Given the description of an element on the screen output the (x, y) to click on. 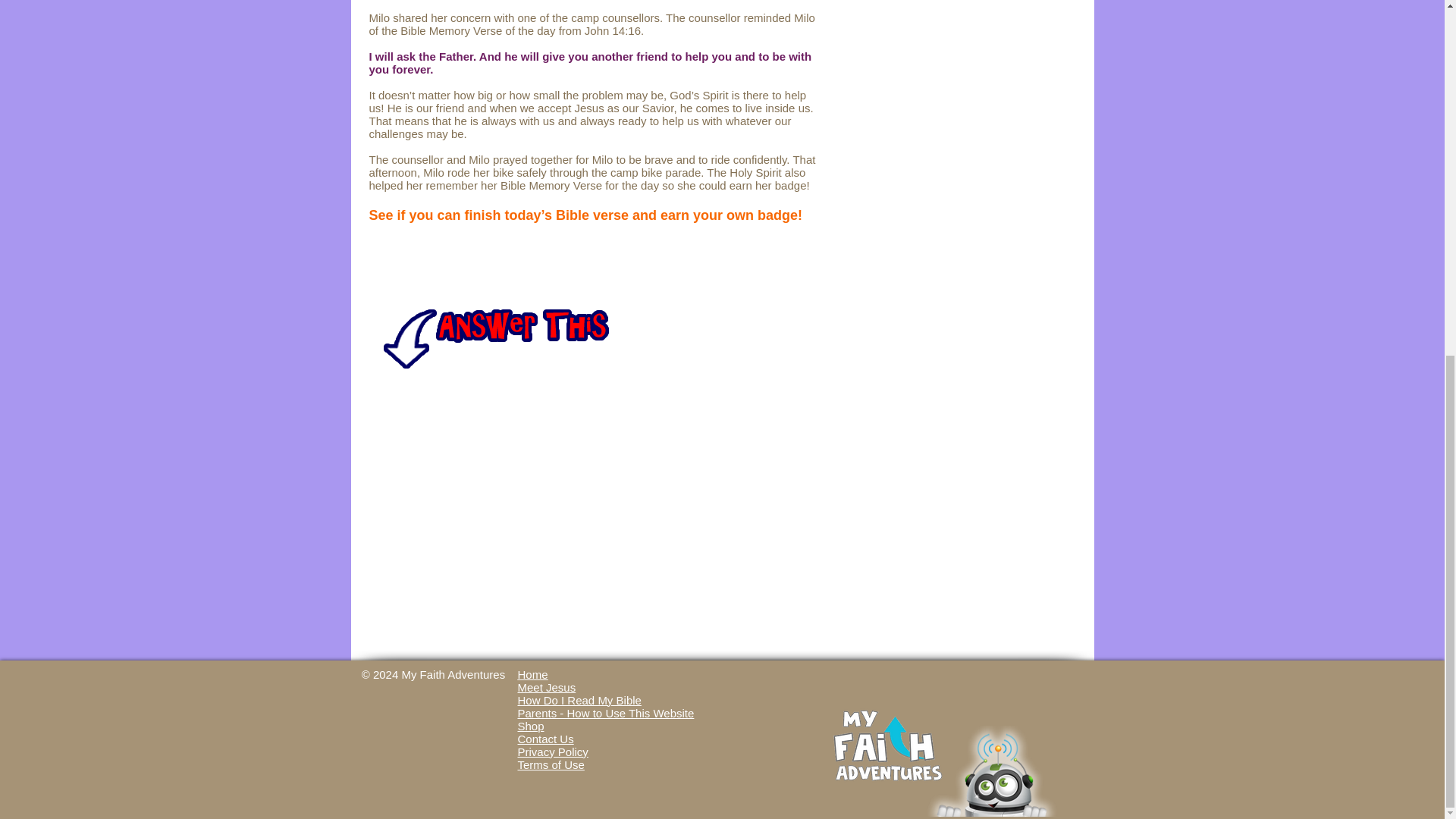
Home (531, 674)
Meet Jesus (545, 686)
Shop (529, 725)
Contact Us (544, 738)
MFA logo outline.png (886, 746)
Privacy Policy (552, 751)
Terms of Use (549, 763)
Parents - How to Use This Website (605, 712)
How Do I Read My Bible (578, 699)
